Given the description of an element on the screen output the (x, y) to click on. 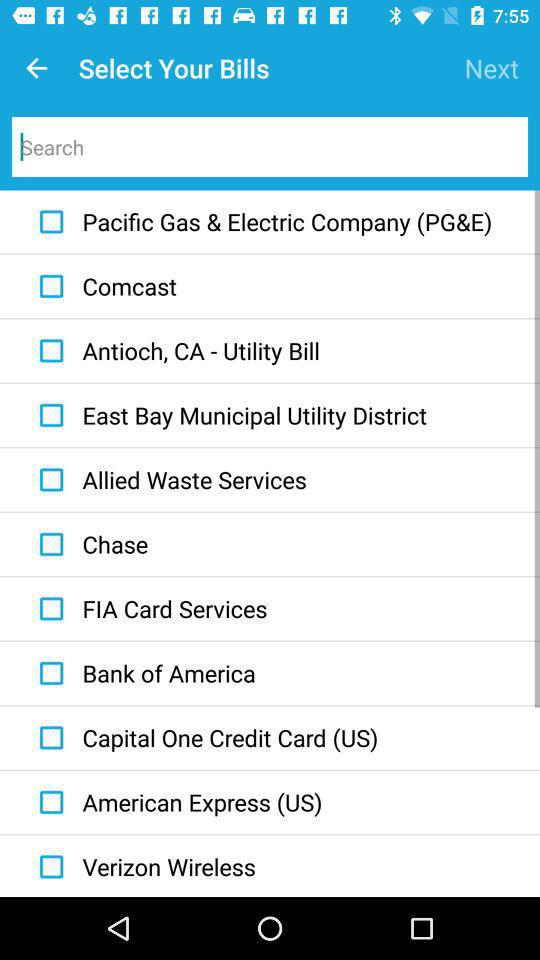
scroll to the fia card services (148, 609)
